Given the description of an element on the screen output the (x, y) to click on. 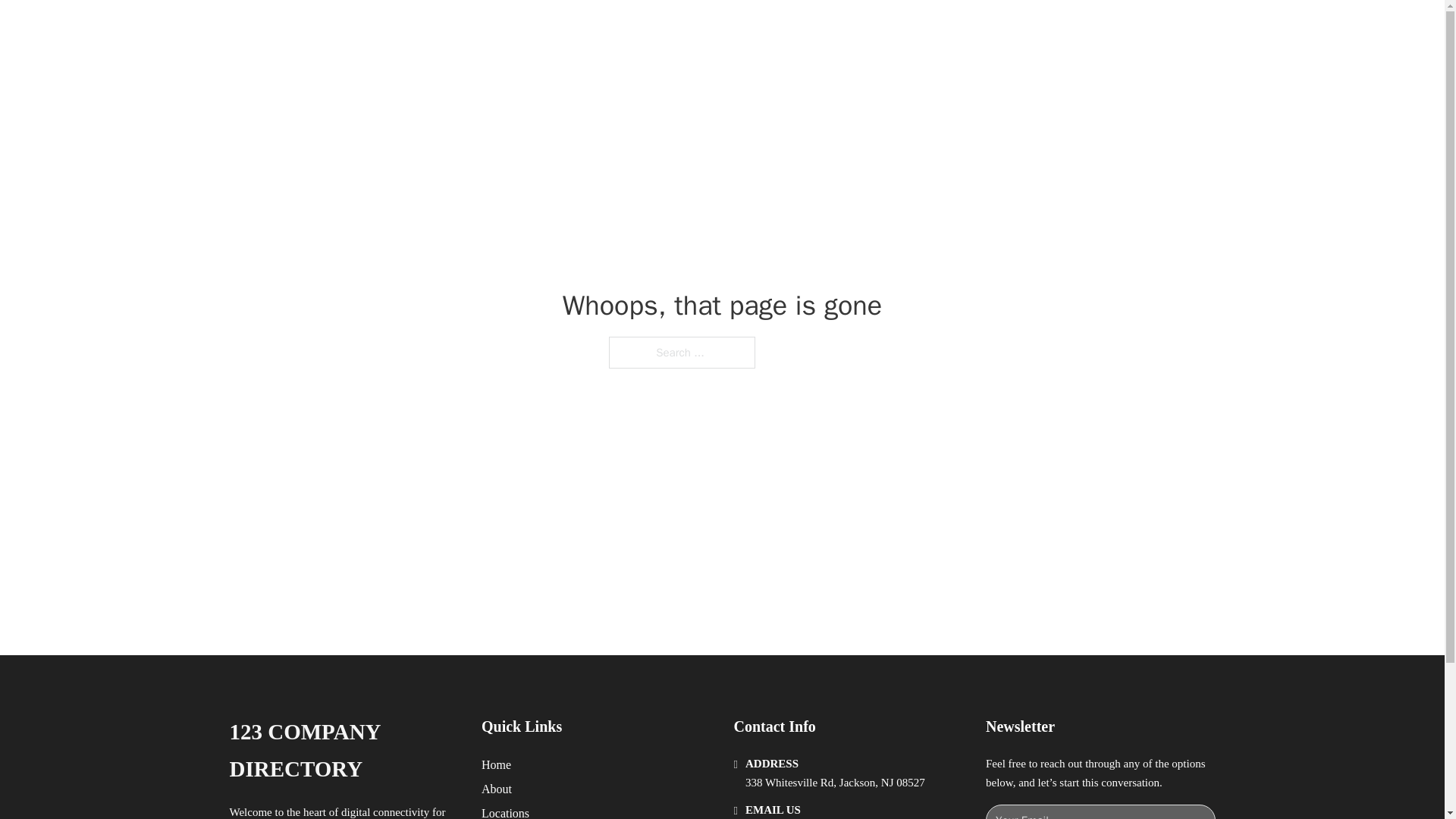
123 COMPANY DIRECTORY (343, 750)
About (496, 788)
Home (496, 764)
HOME (919, 29)
123 COMPANY DIRECTORY (441, 28)
LOCATIONS (990, 29)
Locations (505, 811)
